Given the description of an element on the screen output the (x, y) to click on. 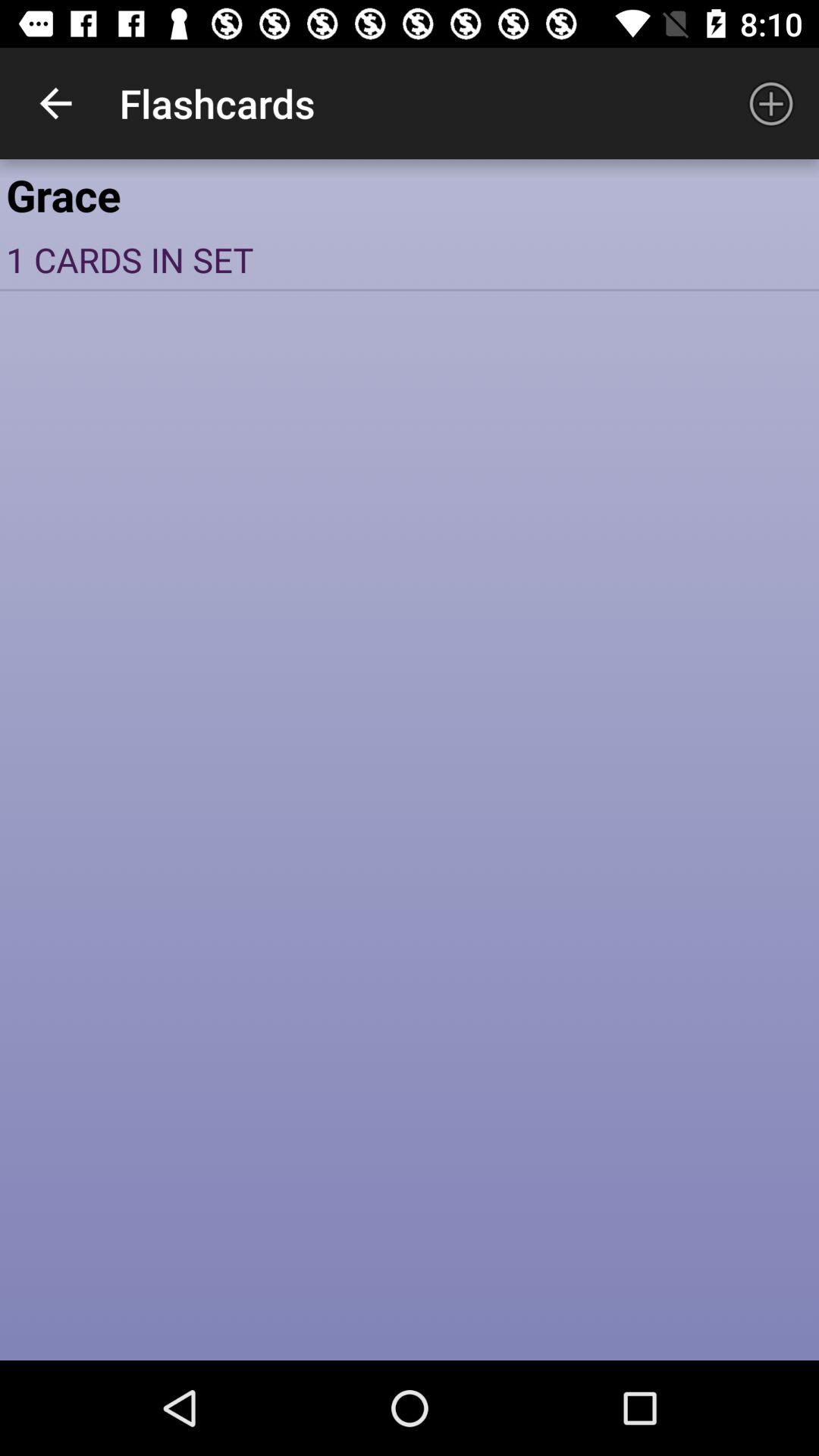
turn off item above grace item (771, 103)
